Given the description of an element on the screen output the (x, y) to click on. 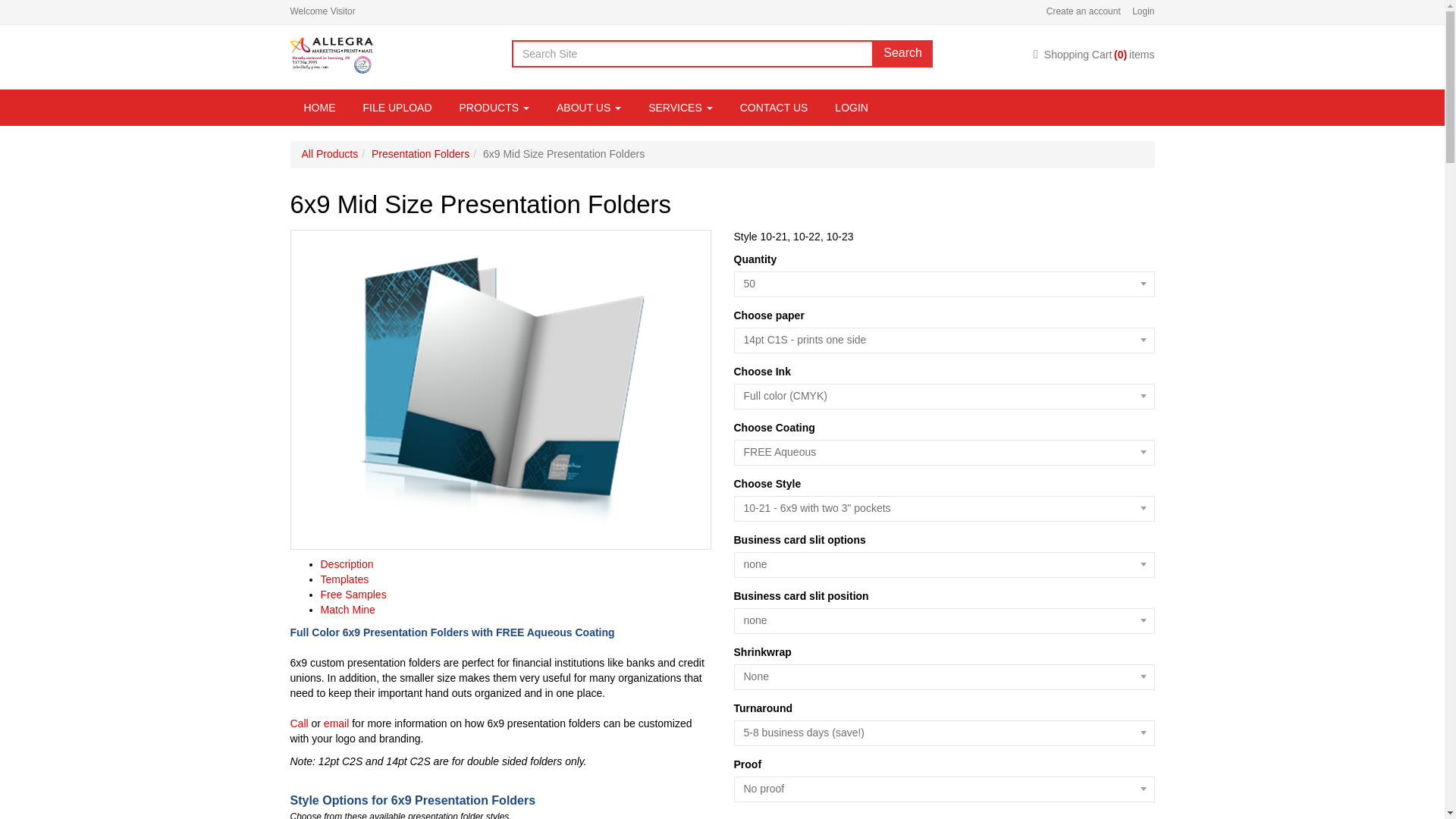
Allegra of Lansing (330, 55)
HOME (319, 107)
Search (902, 53)
6x9 Mid Size Presentation Folders (500, 389)
FILE UPLOAD (397, 107)
Login (1138, 11)
ABOUT US (588, 107)
PRODUCTS (494, 107)
Allegra of Lansing (330, 53)
Create an account (1078, 11)
Create an account (1078, 11)
